Given the description of an element on the screen output the (x, y) to click on. 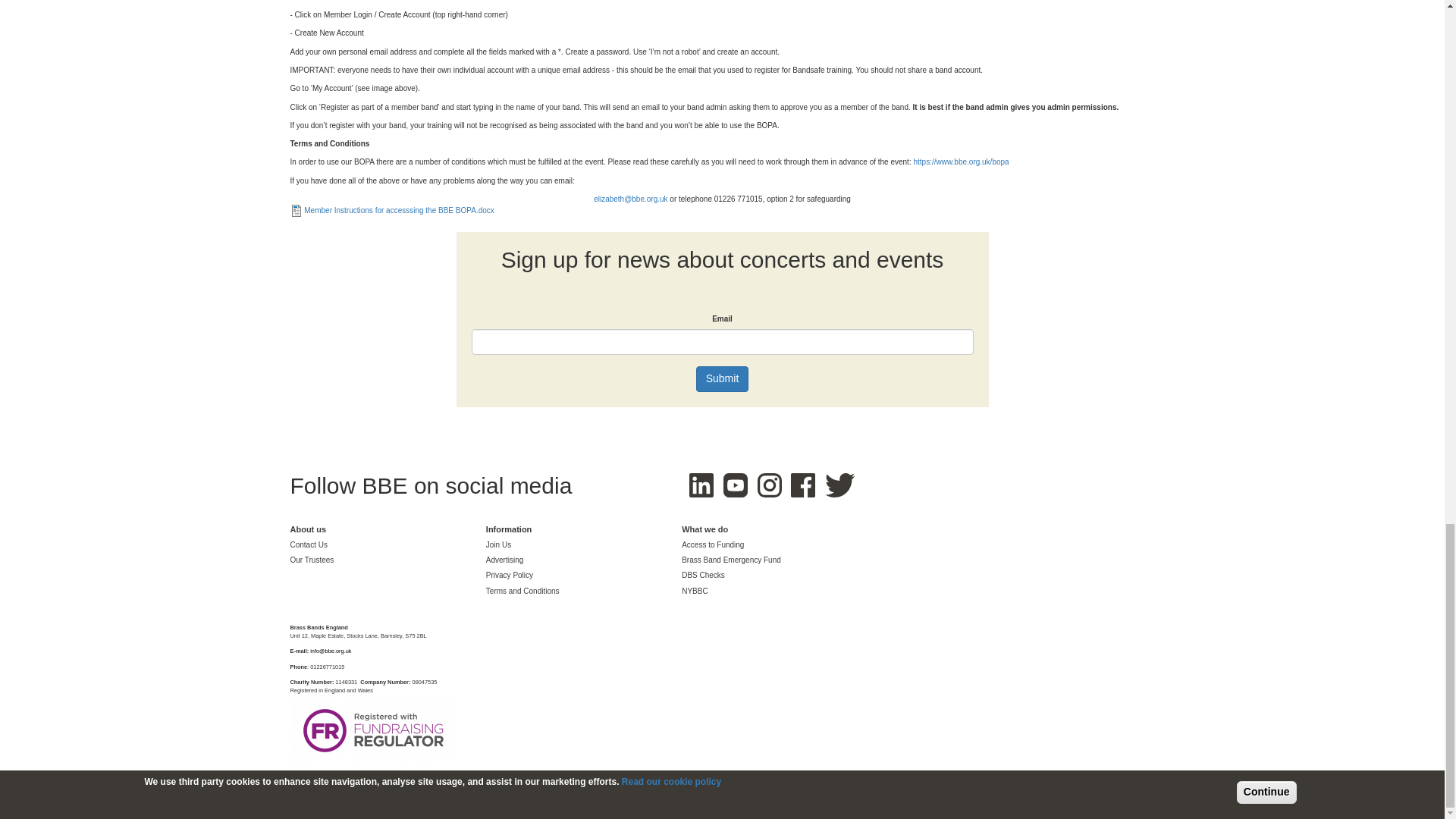
About us (307, 529)
Member Instructions for accesssing the BBE BOPA.docx (398, 210)
BBE website (350, 0)
Submit (722, 379)
